Given the description of an element on the screen output the (x, y) to click on. 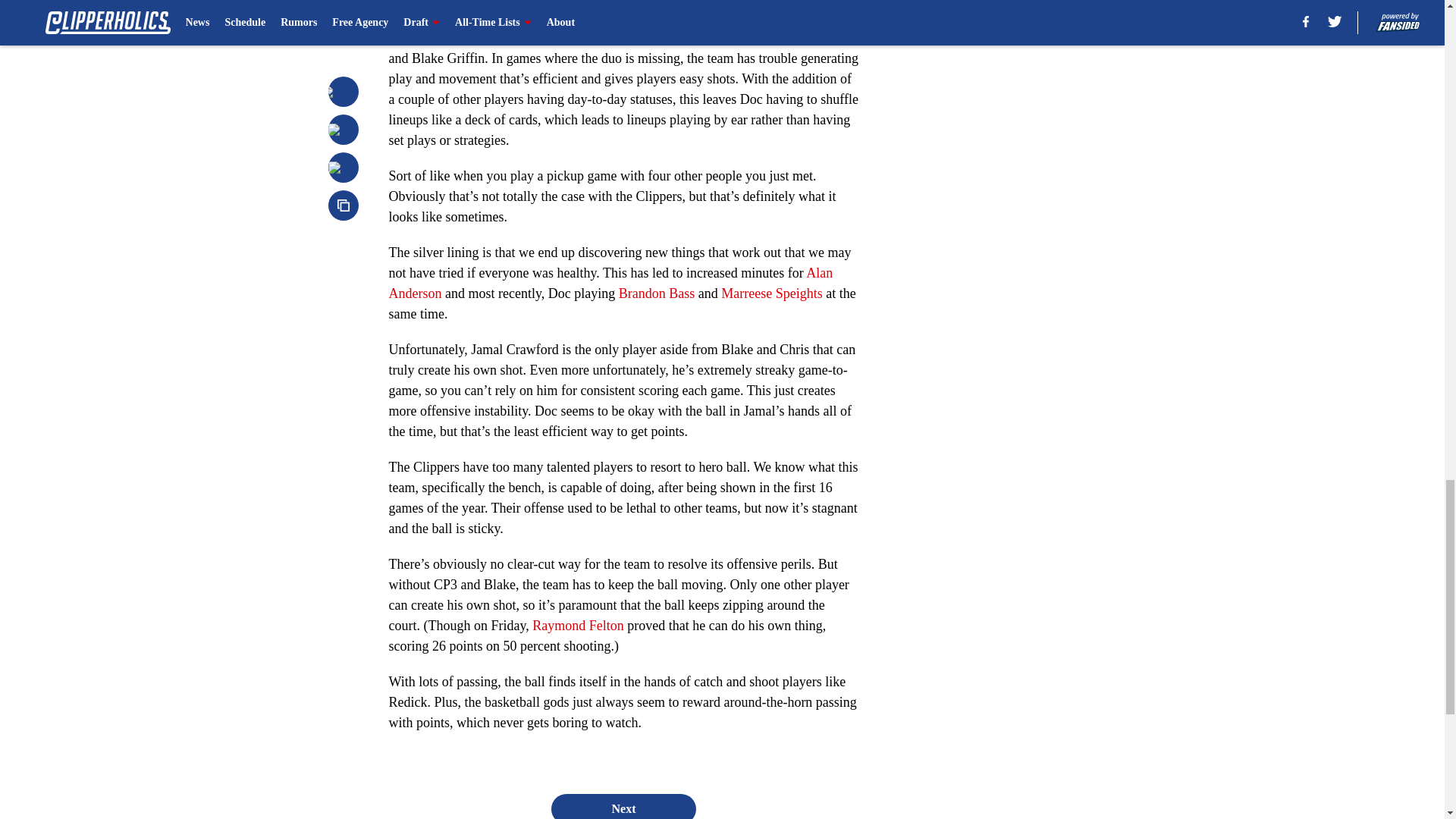
Alan Anderson (610, 283)
Brandon Bass (656, 293)
Raymond Felton (578, 625)
Next (622, 806)
Marreese Speights (771, 293)
